Given the description of an element on the screen output the (x, y) to click on. 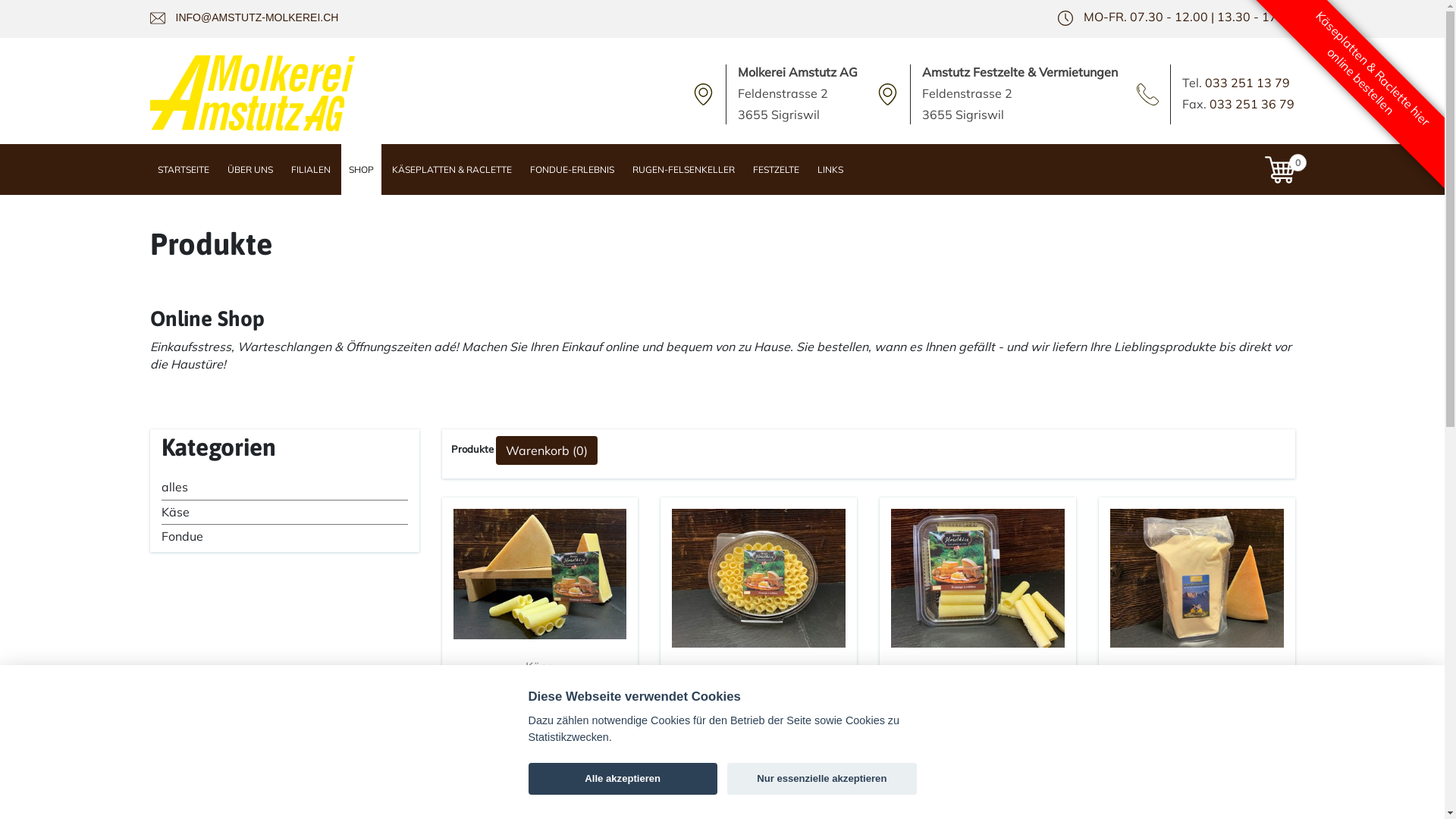
INFO@AMSTUTZ-MOLKEREI.CH Element type: text (256, 17)
Nur essenzielle akzeptieren Element type: text (821, 778)
STARTSEITE Element type: text (183, 169)
033 251 36 79 Element type: text (1251, 103)
FESTZELTE Element type: text (775, 169)
Alle akzeptieren Element type: text (621, 778)
Warenkorb (0) Element type: text (546, 448)
033 251 13 79 Element type: text (1246, 82)
FILIALEN Element type: text (310, 169)
LINKS Element type: text (829, 169)
RUGEN-FELSENKELLER Element type: text (683, 169)
SHOP Element type: text (361, 169)
0 Element type: text (1279, 169)
FONDUE-ERLEBNIS Element type: text (571, 169)
